Given the description of an element on the screen output the (x, y) to click on. 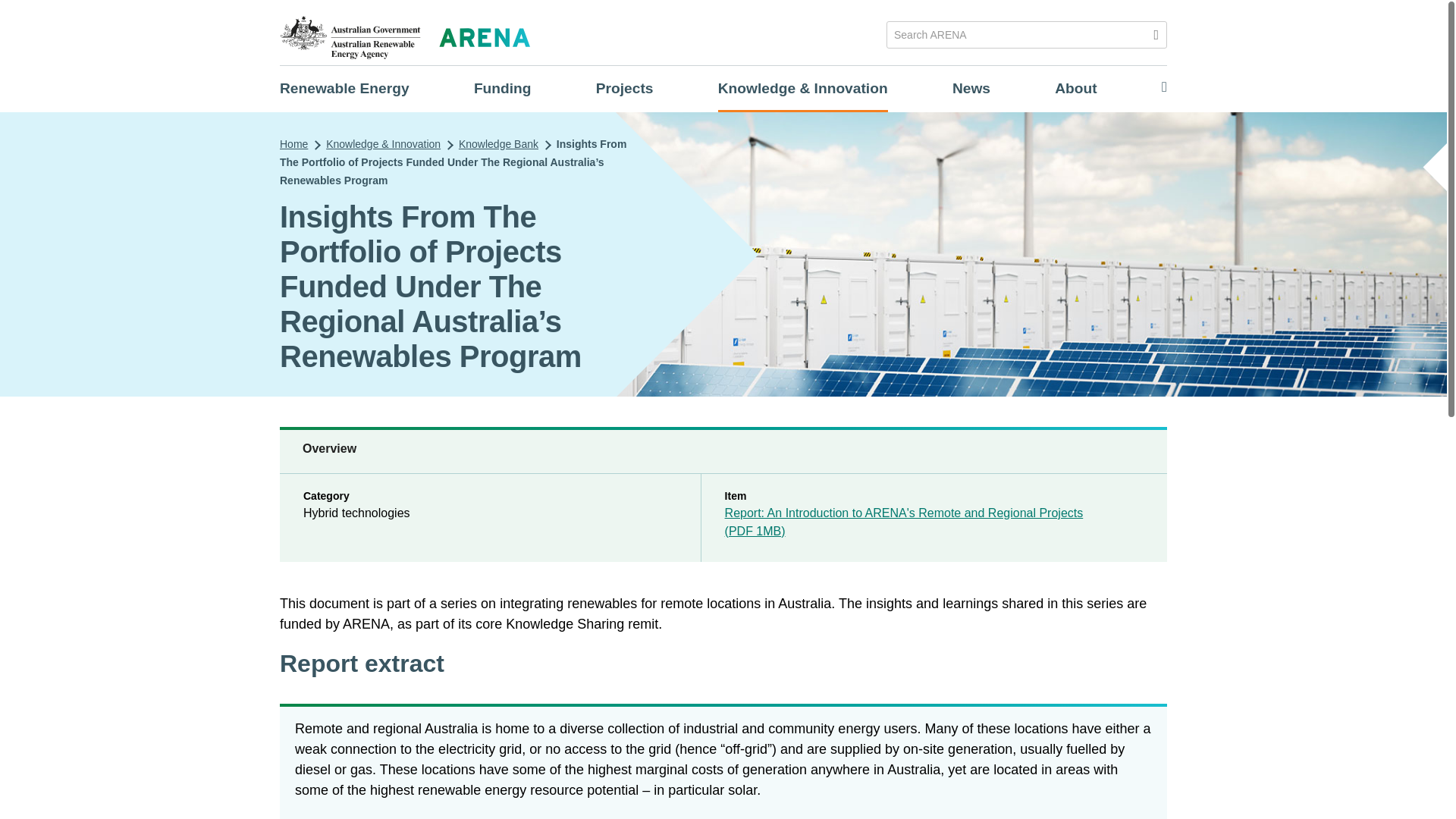
What is renewable energy (344, 88)
Funding (502, 88)
Renewable Energy (344, 88)
News (971, 88)
About (1075, 88)
Projects (624, 88)
